Given the description of an element on the screen output the (x, y) to click on. 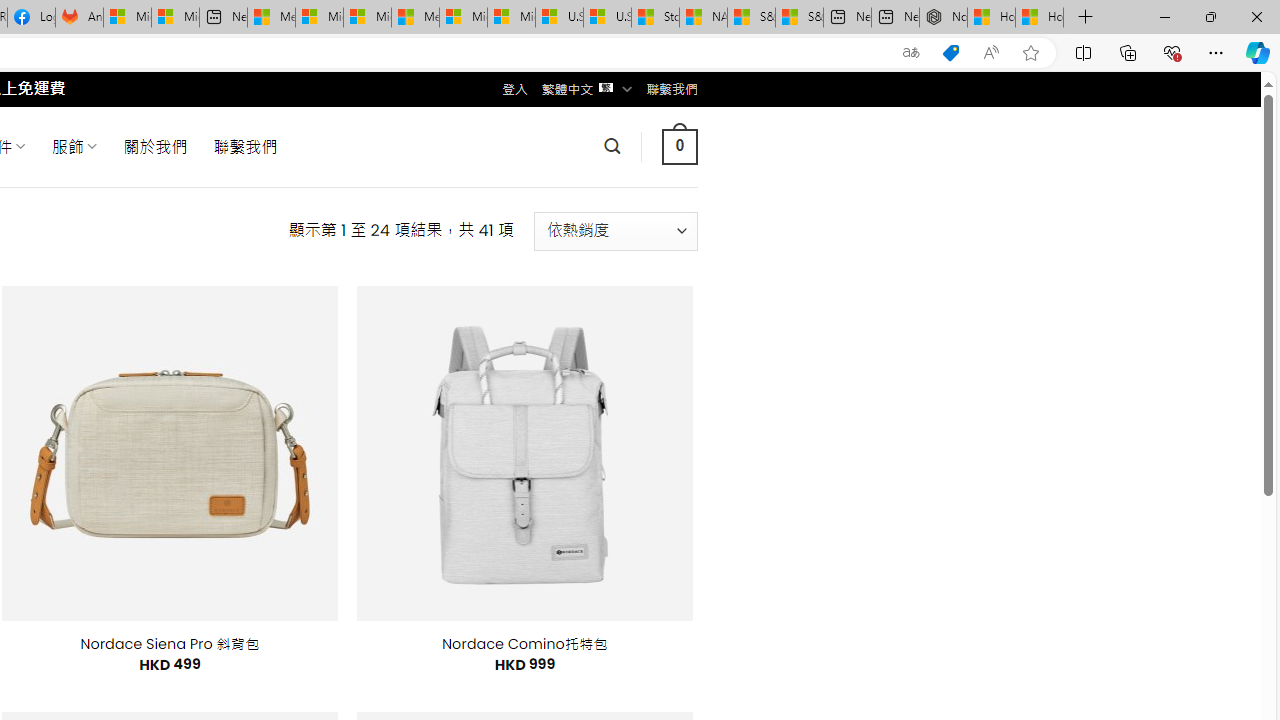
 0  (679, 146)
Split screen (1083, 52)
Close (1256, 16)
Show translate options (910, 53)
Microsoft account | Privacy (319, 17)
